Given the description of an element on the screen output the (x, y) to click on. 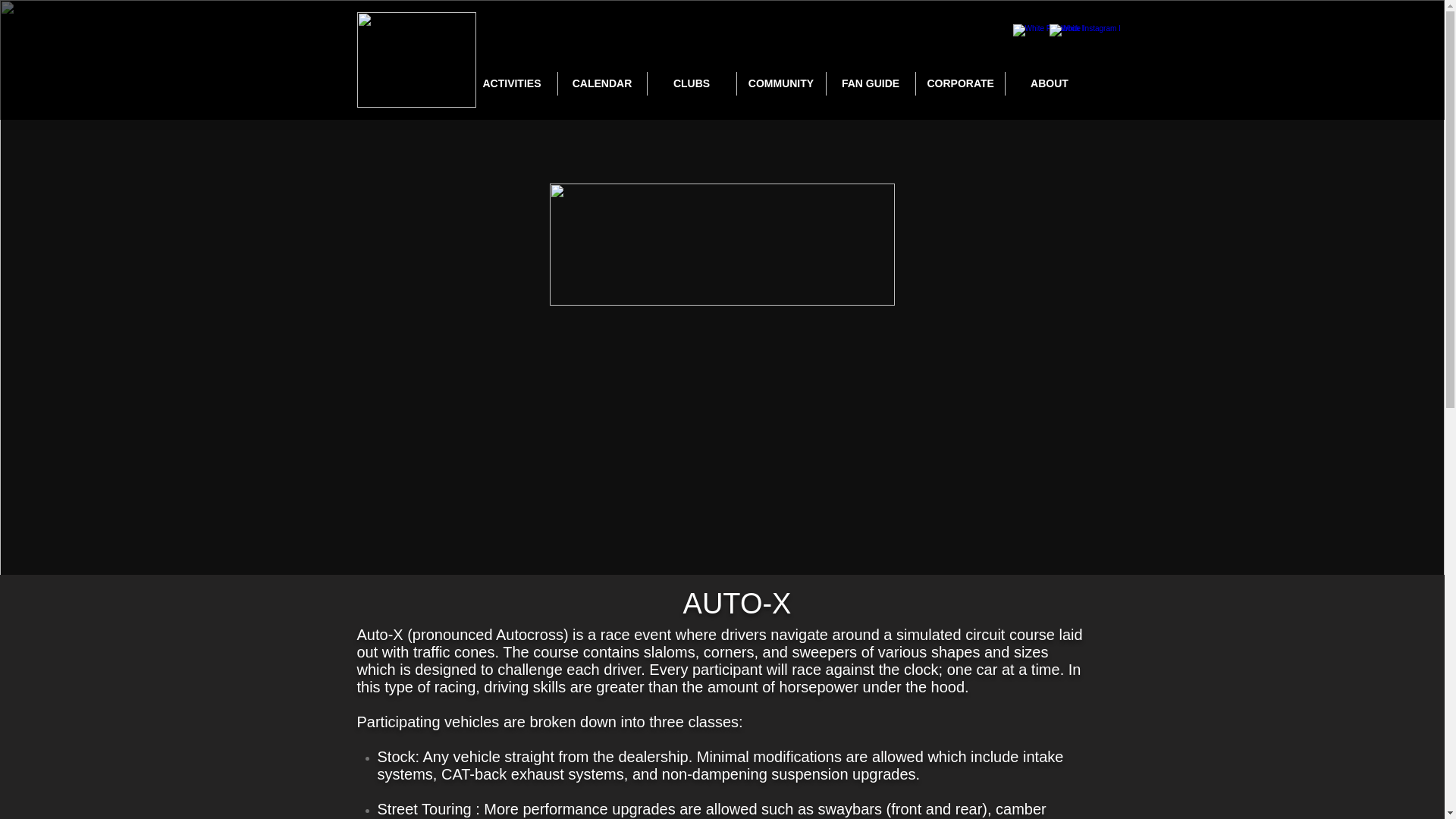
CLUBS (691, 83)
CALENDAR (601, 83)
COMMUNITY (780, 83)
